Given the description of an element on the screen output the (x, y) to click on. 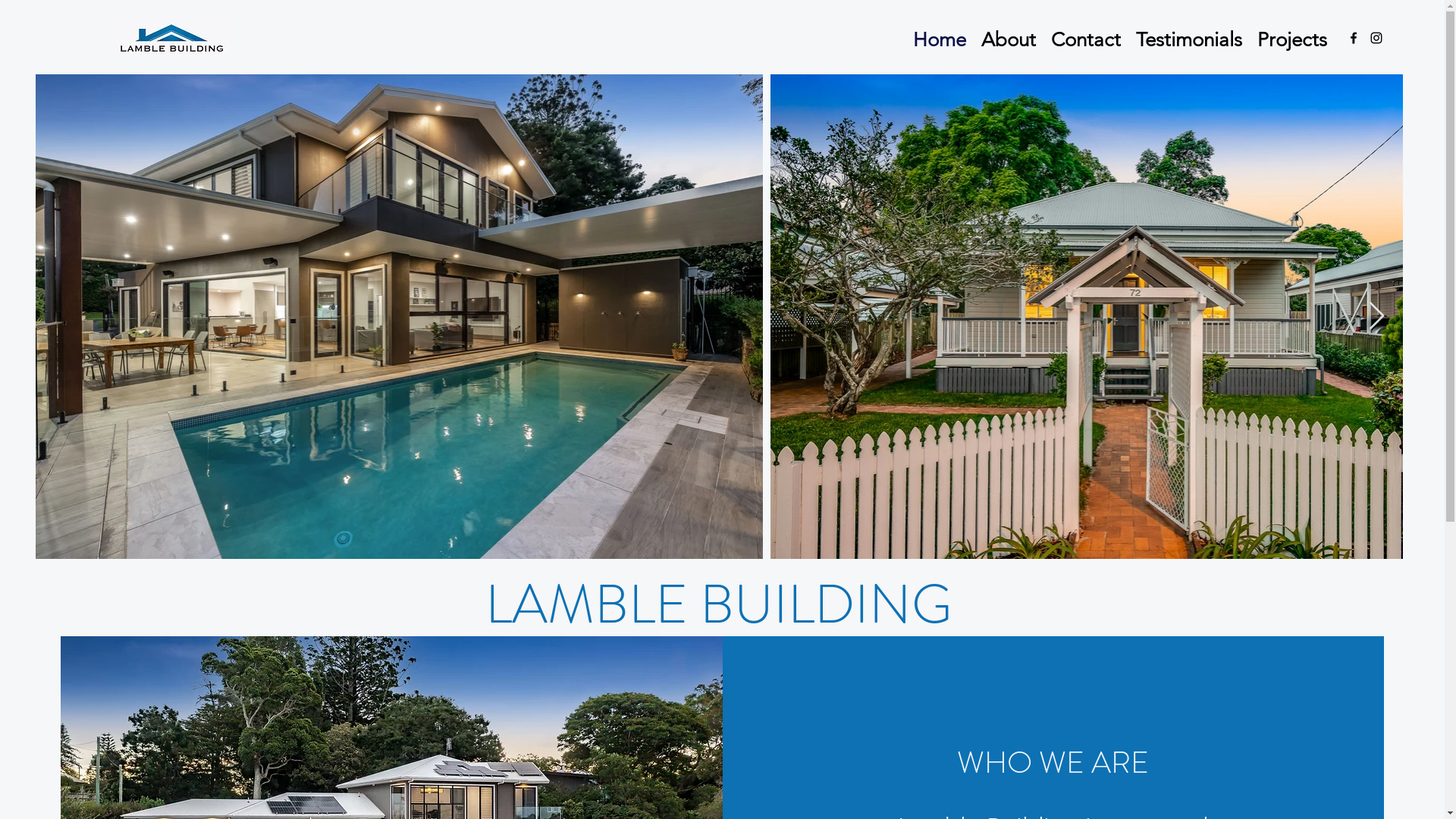
Testimonials Element type: text (1188, 37)
About Element type: text (1008, 37)
Projects Element type: text (1291, 37)
Contact Element type: text (1085, 37)
Home Element type: text (939, 37)
